Given the description of an element on the screen output the (x, y) to click on. 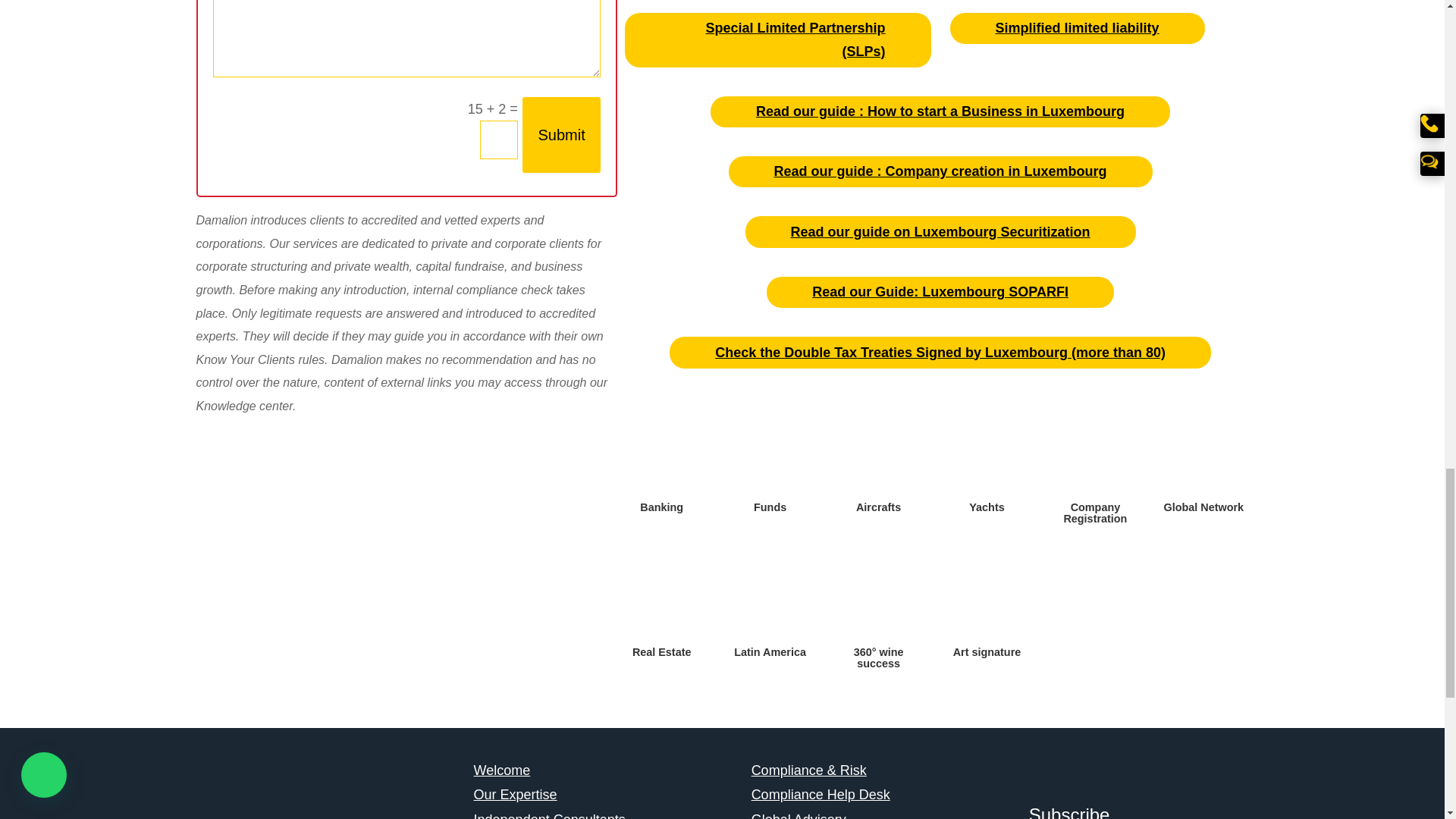
AIRCRAFT-REGISTRATION-FINANCE (878, 457)
YACHT-REGISTRATION-FINANCE (986, 457)
LUXEMBOURG-INVESTMENT-FUND (770, 457)
international-real-estate-sale-and-investment-services (661, 602)
latin america business and investment services (770, 602)
COMPANY-FORMATION-REGISTRATION (1094, 457)
GLOBAL-NETWORK-SERVICES (1202, 457)
open-bank-account-offshore (661, 457)
